Given the description of an element on the screen output the (x, y) to click on. 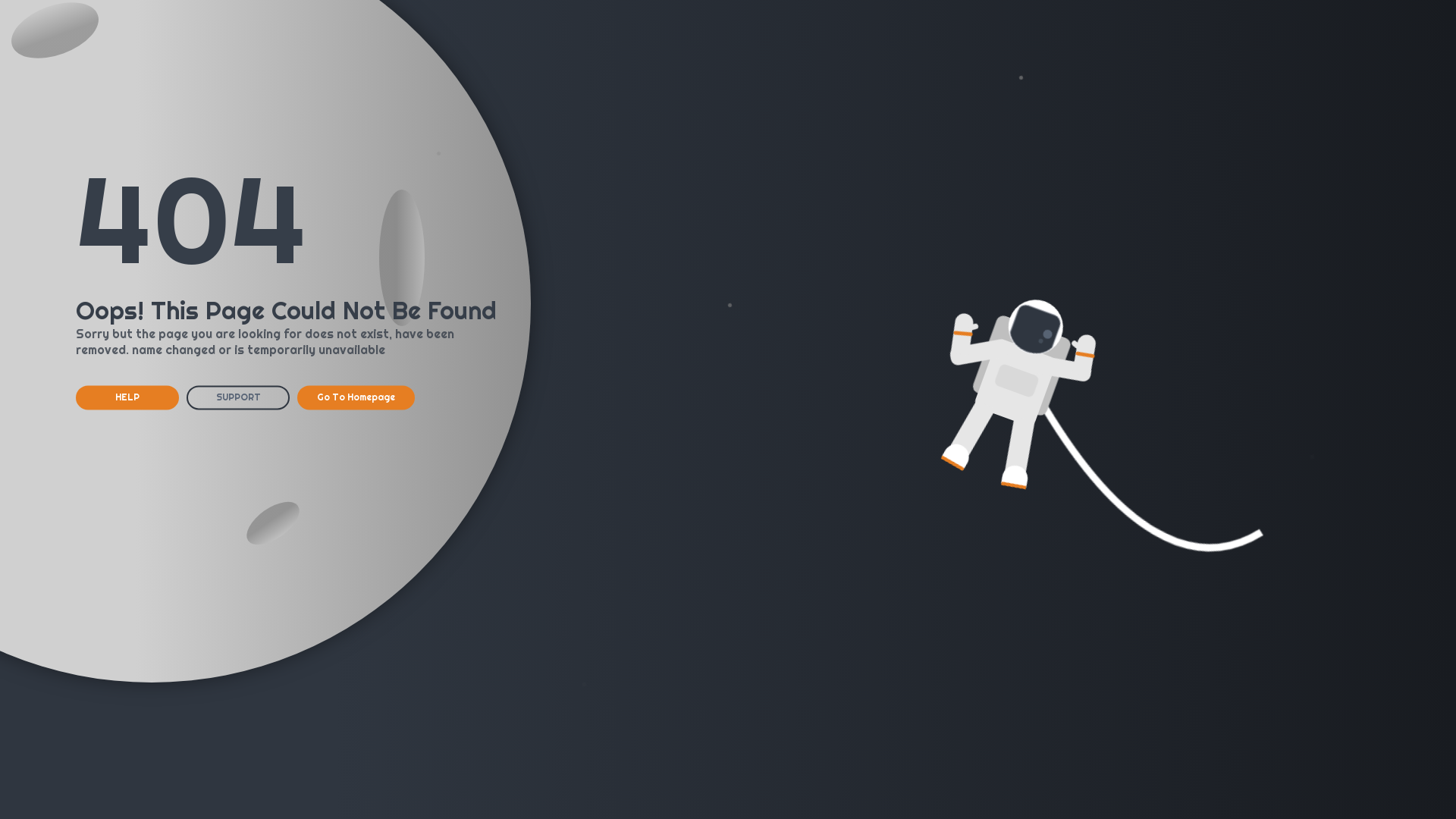
HELP Element type: text (126, 397)
Go To Homepage Element type: text (355, 397)
SUPPORT Element type: text (237, 397)
